Given the description of an element on the screen output the (x, y) to click on. 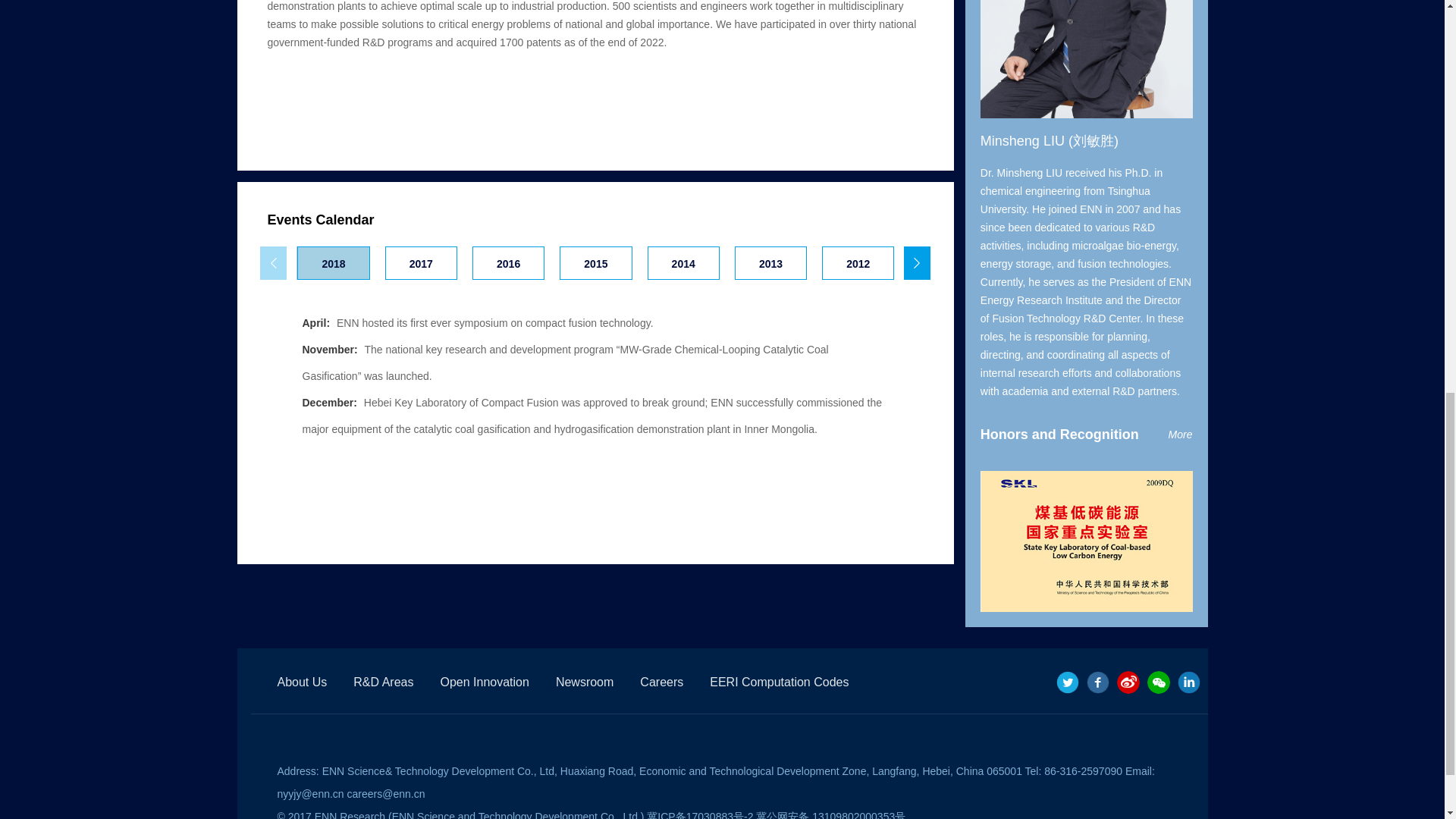
Newsroom (584, 681)
Open Innovation (483, 681)
Careers (661, 681)
EERI Computation Codes (779, 681)
More (1180, 434)
About Us (302, 681)
